Given the description of an element on the screen output the (x, y) to click on. 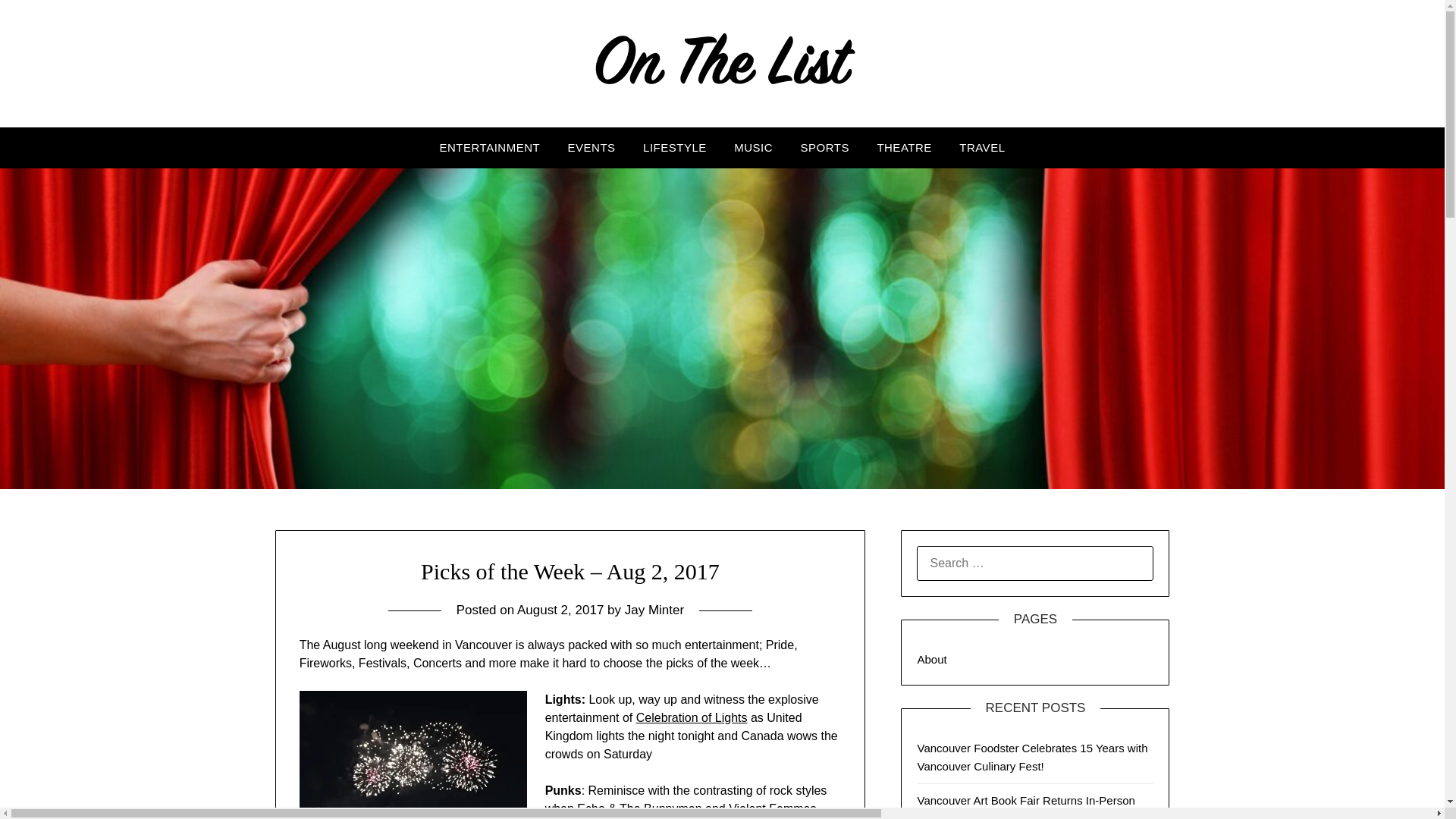
LIFESTYLE (674, 147)
MUSIC (753, 147)
August 2, 2017 (560, 609)
Jay Minter (654, 609)
ENTERTAINMENT (490, 147)
EVENTS (591, 147)
SPORTS (825, 147)
TRAVEL (981, 147)
THEATRE (903, 147)
Celebration of Lights (692, 717)
